Given the description of an element on the screen output the (x, y) to click on. 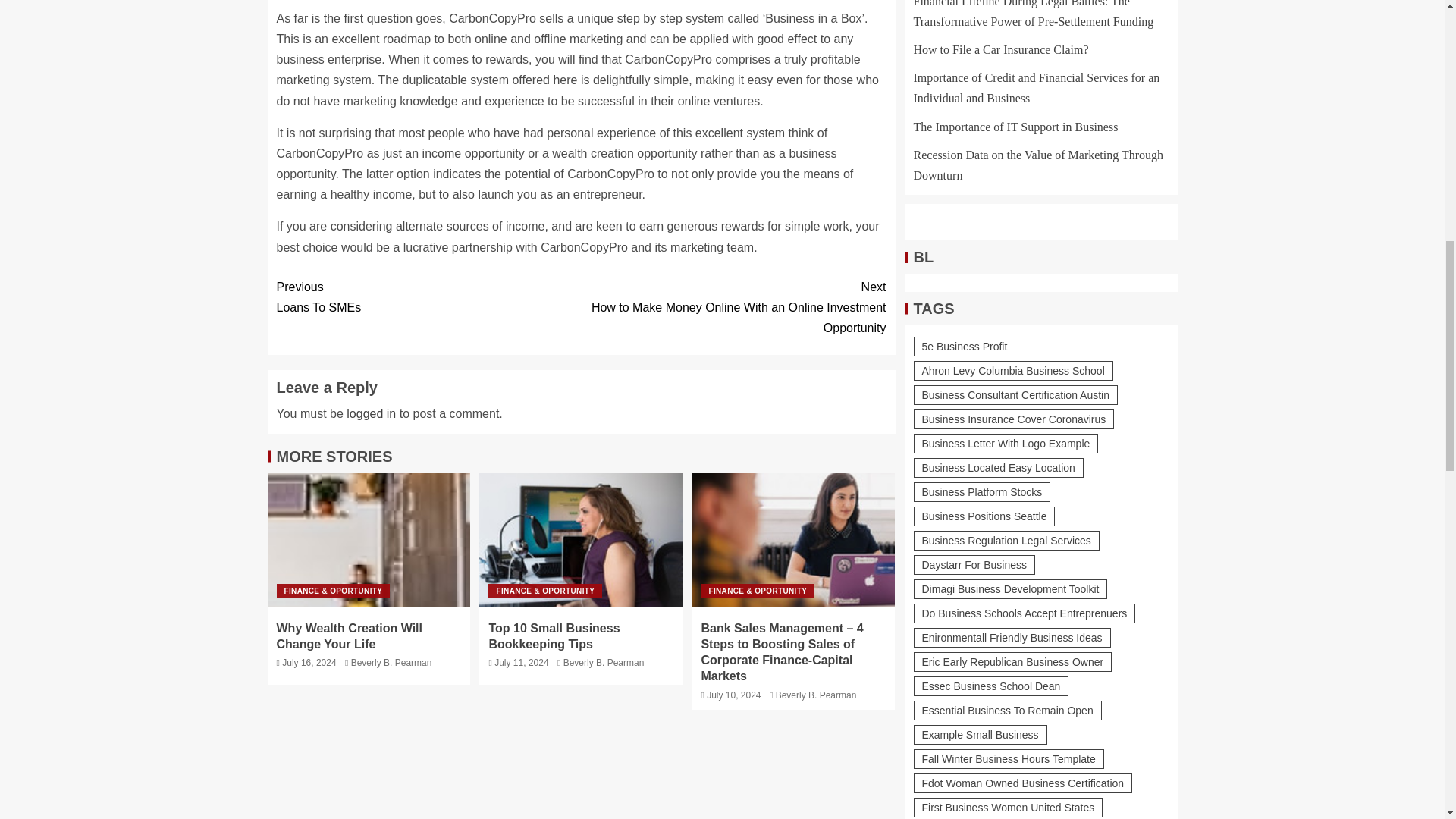
Beverly B. Pearman (391, 662)
Why Wealth Creation Will Change Your Life (349, 635)
Top 10 Small Business Bookkeeping Tips (428, 296)
Why Wealth Creation Will Change Your Life (580, 540)
Beverly B. Pearman (368, 540)
logged in (816, 695)
Beverly B. Pearman (371, 413)
Top 10 Small Business Bookkeeping Tips (604, 662)
